Given the description of an element on the screen output the (x, y) to click on. 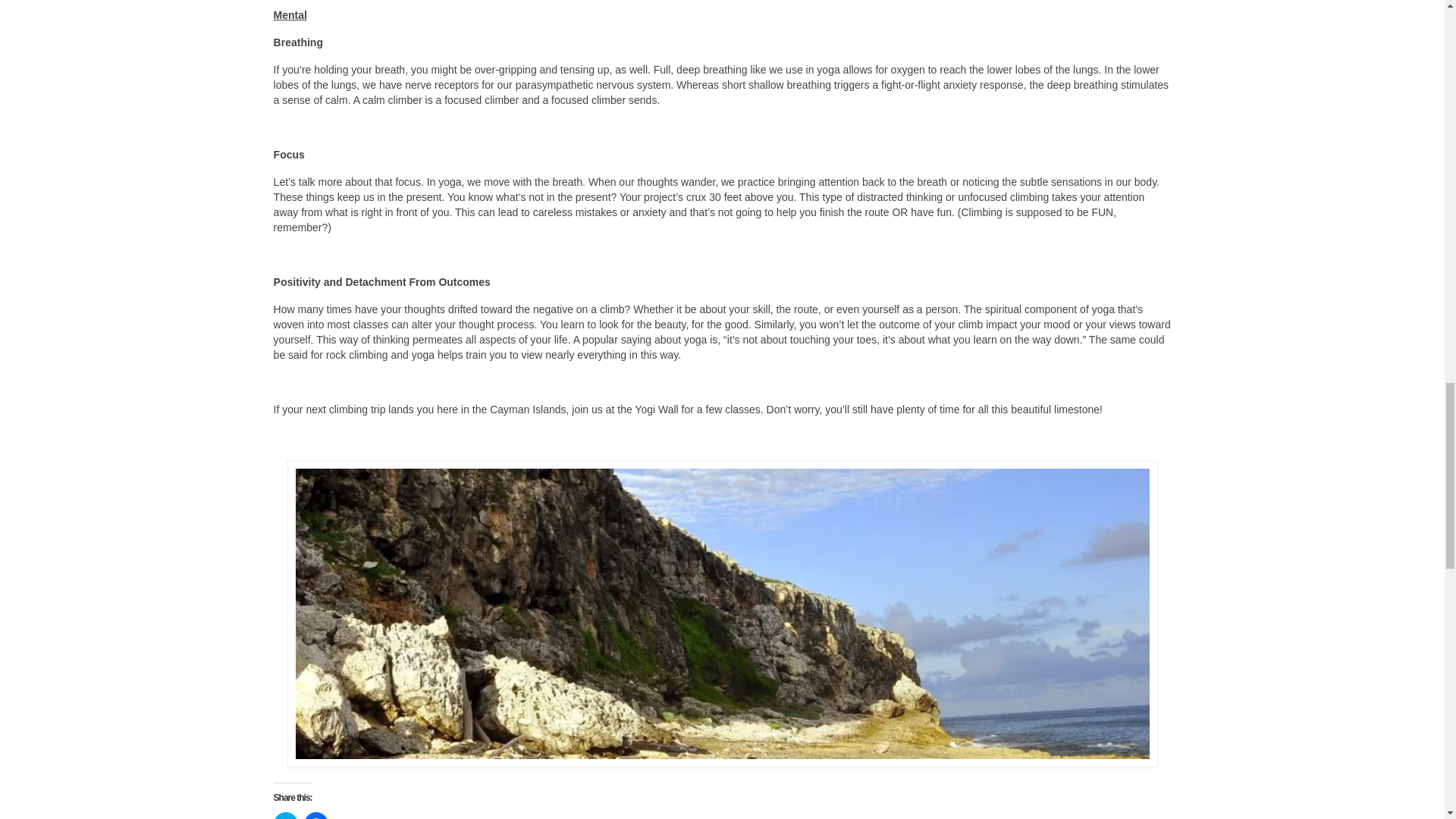
Click to share on Twitter (285, 815)
Click to share on Facebook (316, 815)
